Given the description of an element on the screen output the (x, y) to click on. 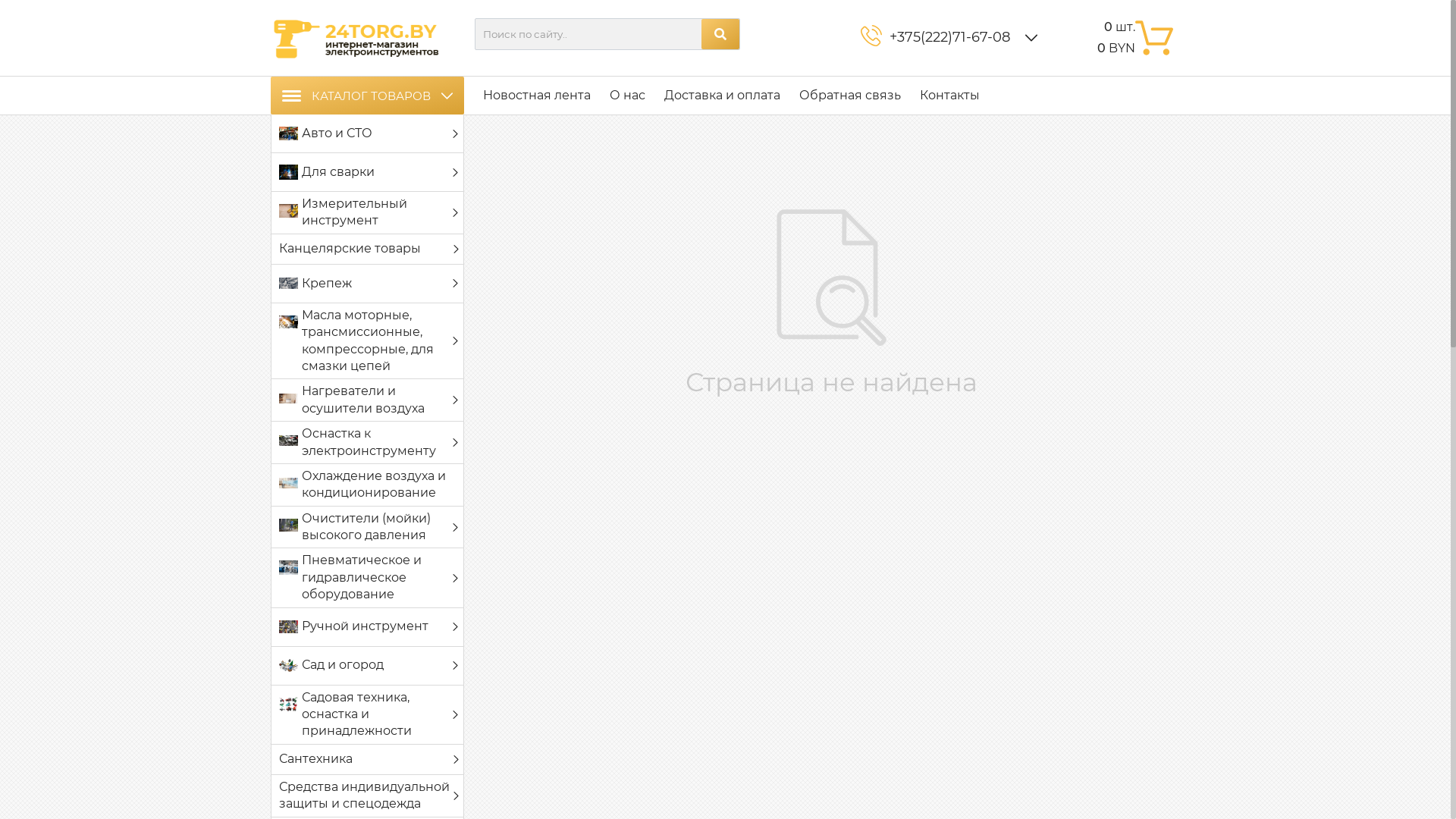
+375(222)71-67-08   Element type: text (952, 37)
